Given the description of an element on the screen output the (x, y) to click on. 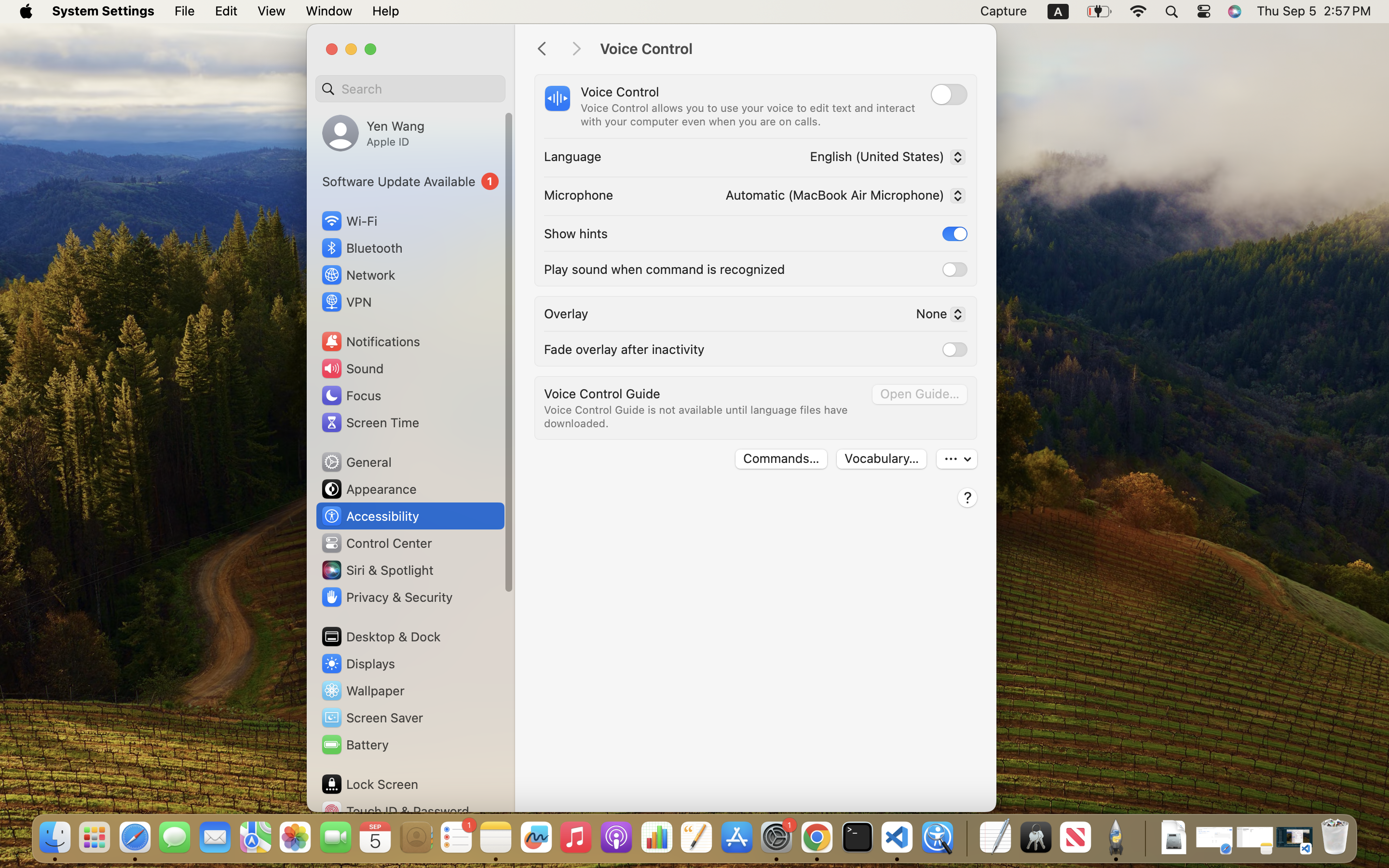
0.4285714328289032 Element type: AXDockItem (965, 837)
Battery Element type: AXStaticText (354, 744)
Voice Control Guide is not available until language files have downloaded. Element type: AXStaticText (697, 416)
Bluetooth Element type: AXStaticText (361, 247)
Play sound when command is recognized Element type: AXStaticText (664, 268)
